Given the description of an element on the screen output the (x, y) to click on. 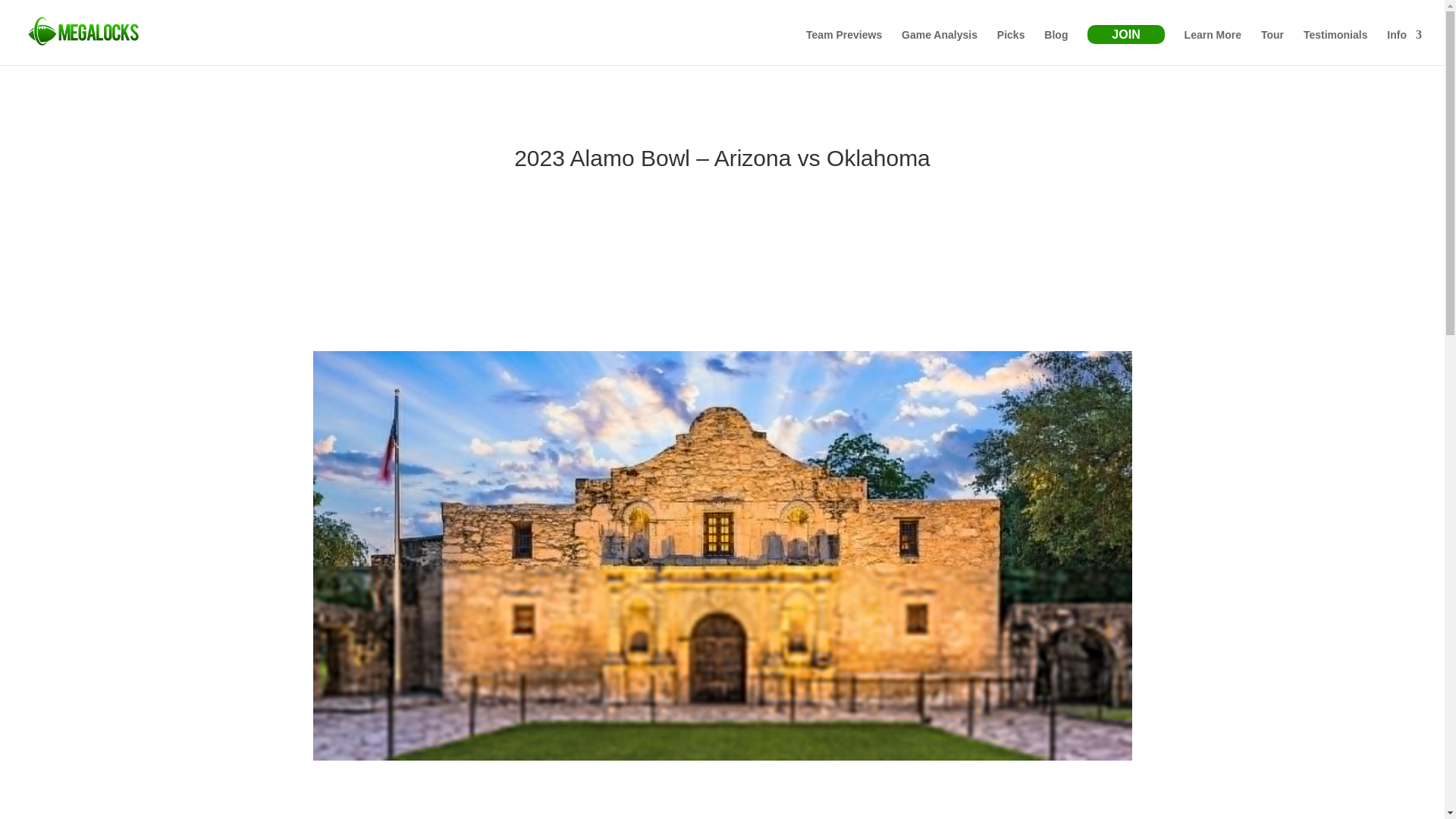
Learn More (1213, 47)
JOIN (1125, 34)
Team Previews (844, 47)
Info (1404, 47)
Game Analysis (938, 47)
Testimonials (1335, 47)
